Given the description of an element on the screen output the (x, y) to click on. 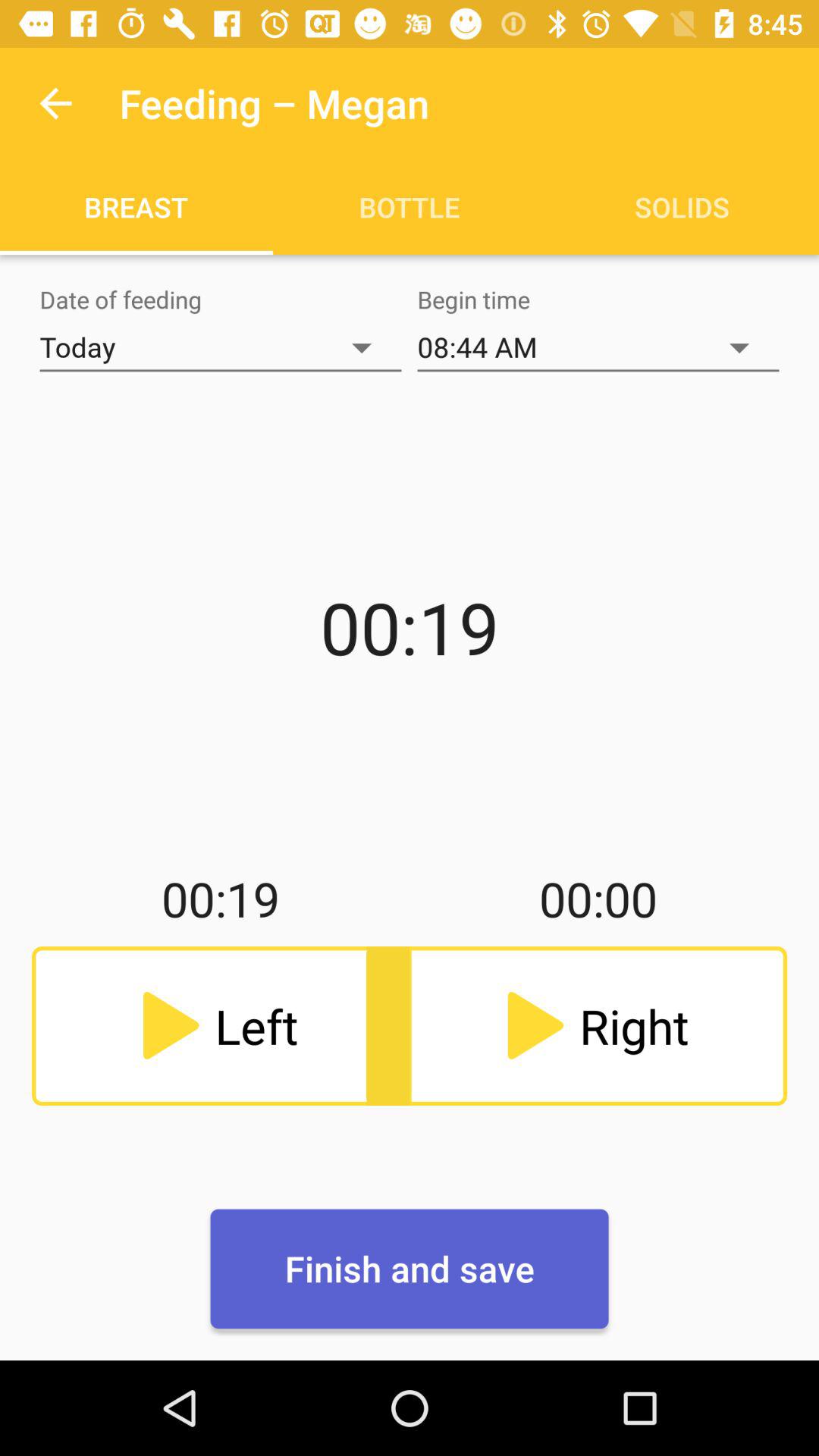
choose the icon below the left (409, 1268)
